Given the description of an element on the screen output the (x, y) to click on. 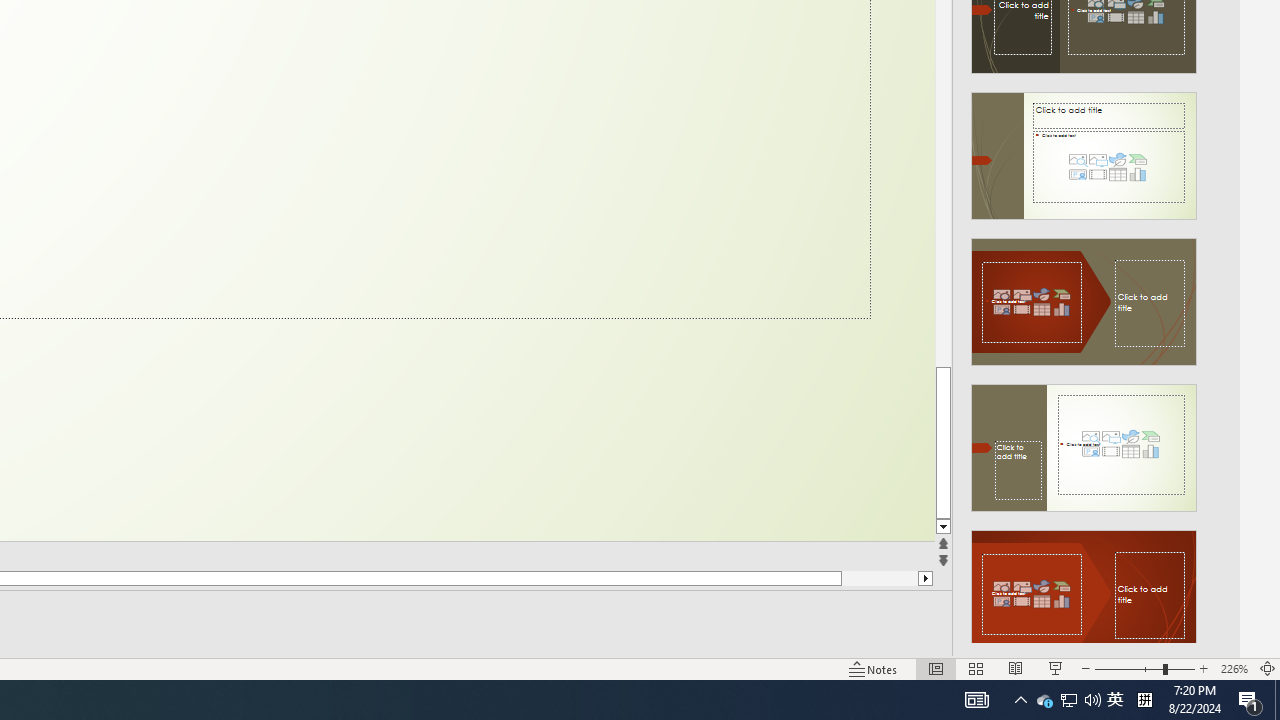
Zoom 226% (1234, 668)
